Given the description of an element on the screen output the (x, y) to click on. 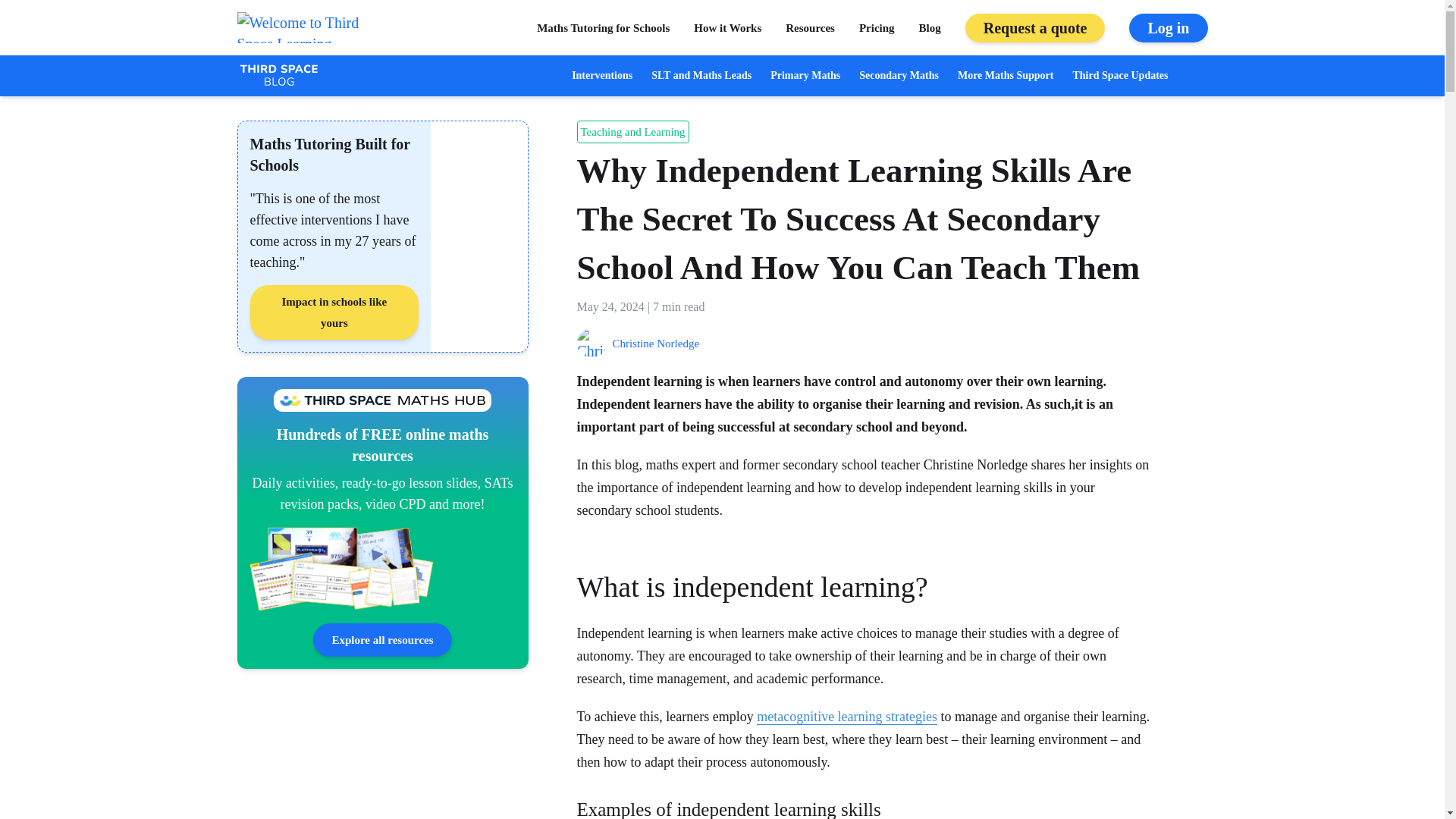
Welcome to Third Space Learning (301, 27)
Maths Tutoring for Schools (603, 27)
Pricing (877, 27)
Resources (810, 27)
Request a quote (1035, 27)
Blog (929, 27)
Log in (1168, 27)
Explore all resources (382, 639)
Impact in schools like yours (334, 312)
How it Works (727, 27)
